Given the description of an element on the screen output the (x, y) to click on. 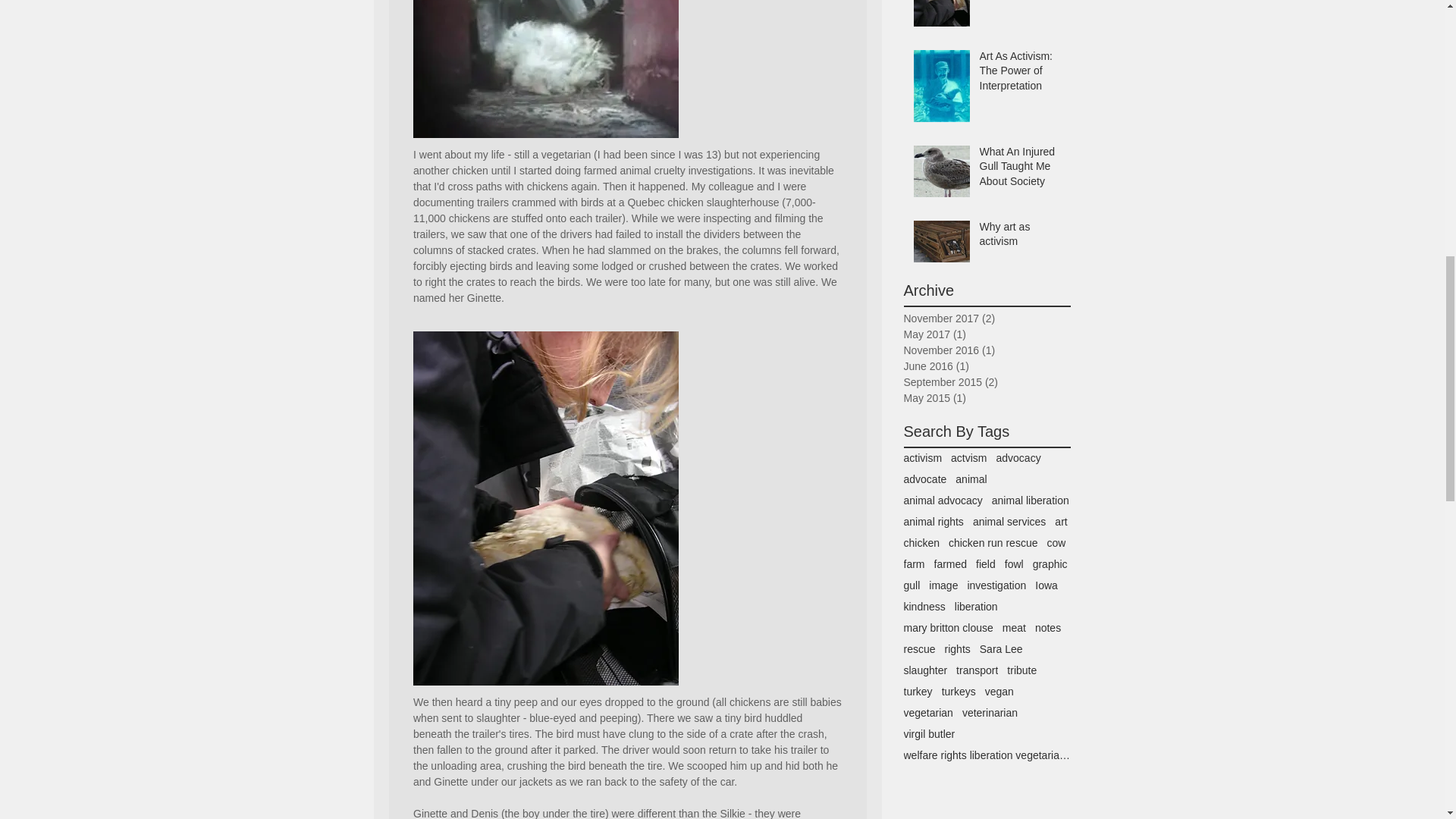
Art As Activism: The Power of Interpretation (1020, 74)
activism (923, 458)
actvism (968, 458)
Why art as activism (1020, 237)
What An Injured Gull Taught Me About Society (1020, 169)
